Given the description of an element on the screen output the (x, y) to click on. 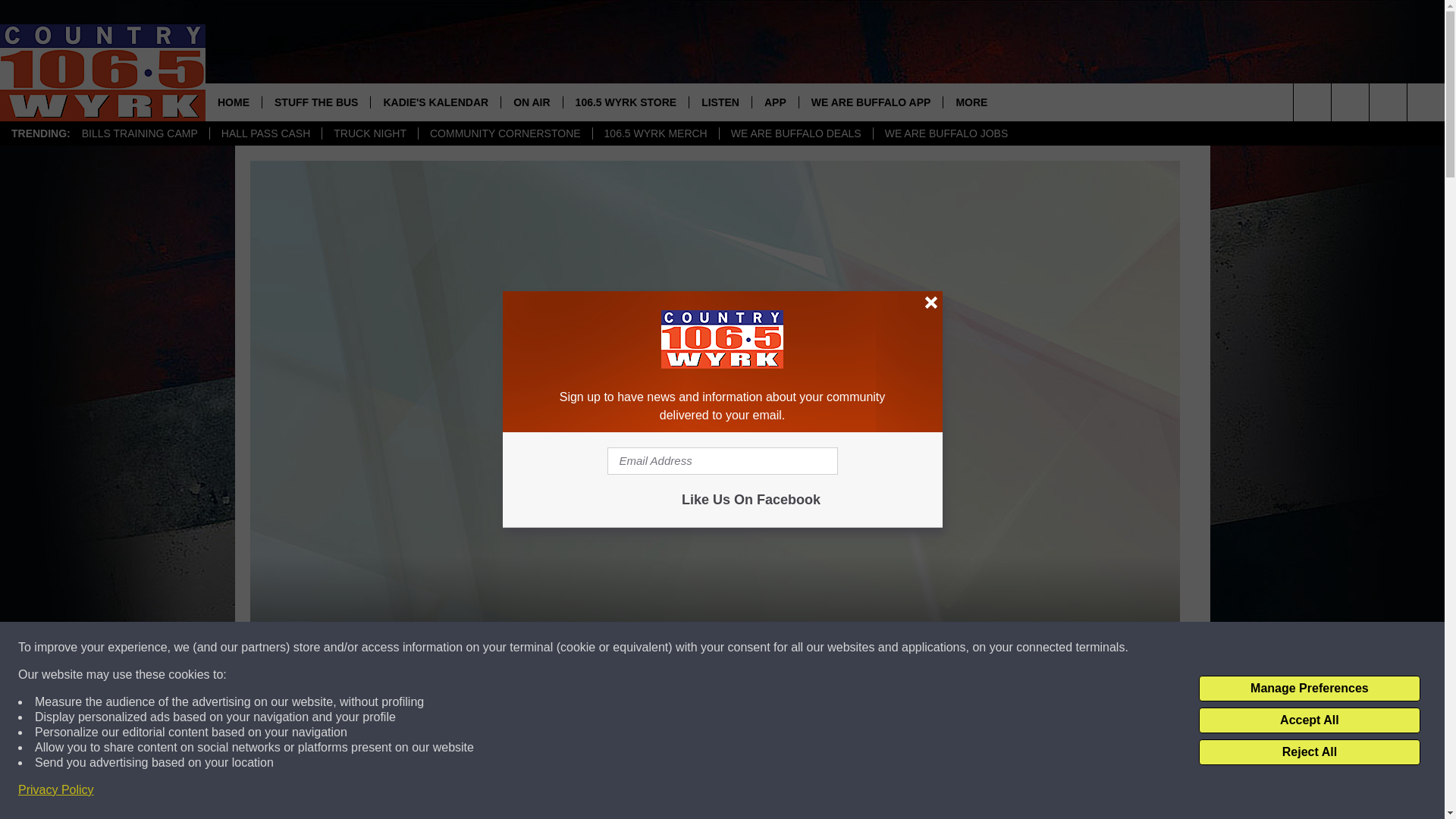
ON AIR (531, 102)
TRUCK NIGHT (369, 133)
Share on Facebook (714, 791)
KADIE'S KALENDAR (434, 102)
WE ARE BUFFALO JOBS (946, 133)
Manage Preferences (1309, 688)
COMMUNITY CORNERSTONE (504, 133)
APP (774, 102)
HALL PASS CASH (265, 133)
LISTEN (719, 102)
Reject All (1309, 751)
106.5 WYRK STORE (625, 102)
HOME (233, 102)
Accept All (1309, 720)
WE ARE BUFFALO DEALS (795, 133)
